Given the description of an element on the screen output the (x, y) to click on. 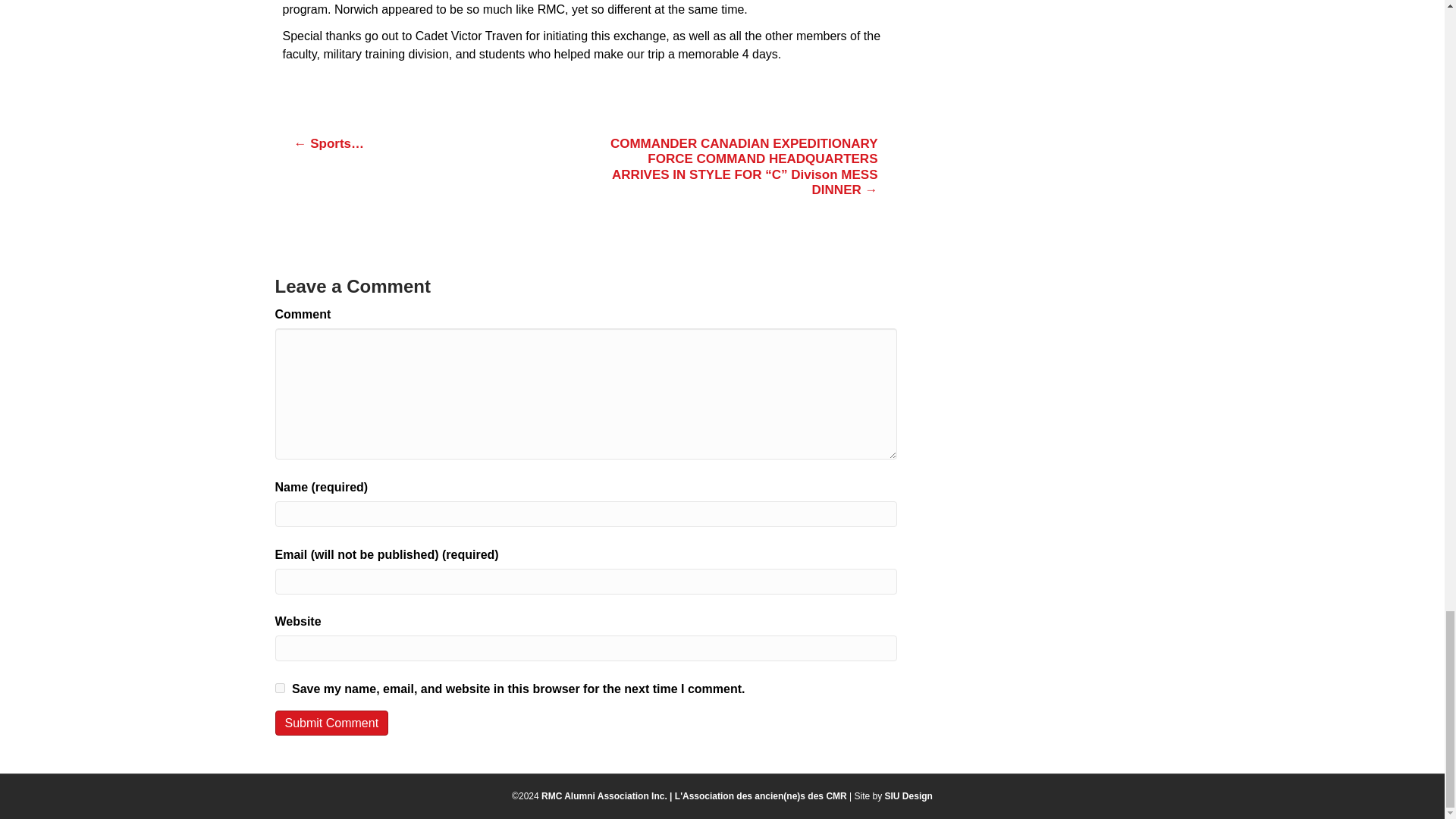
yes (279, 687)
Submit Comment (331, 722)
Submit Comment (331, 722)
SIU Design (909, 796)
